Given the description of an element on the screen output the (x, y) to click on. 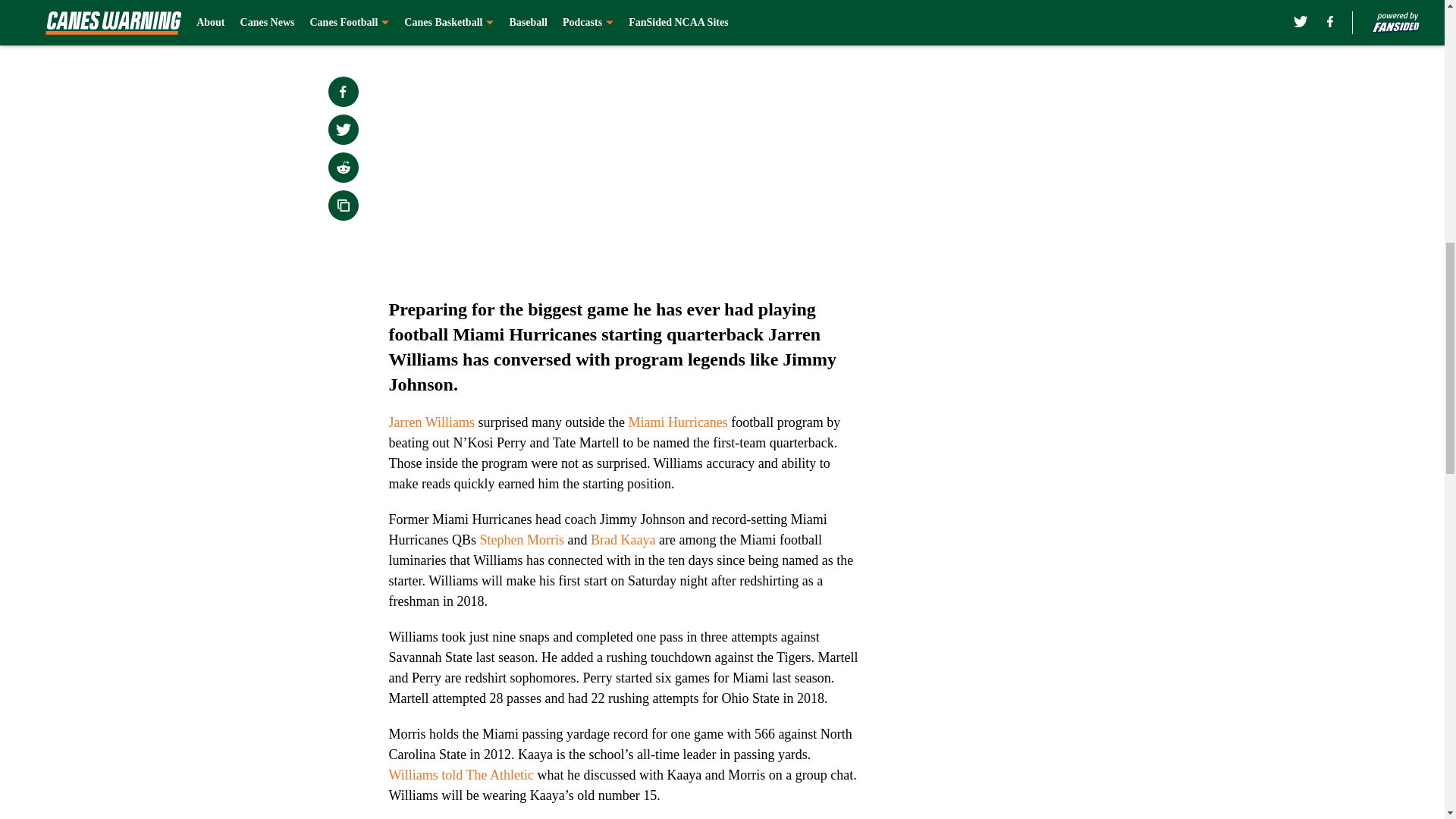
Stephen Morris (521, 539)
Miami Hurricanes (676, 421)
Brad Kaaya (623, 539)
Williams told The Athletic (460, 774)
Jarren Williams (431, 421)
